Given the description of an element on the screen output the (x, y) to click on. 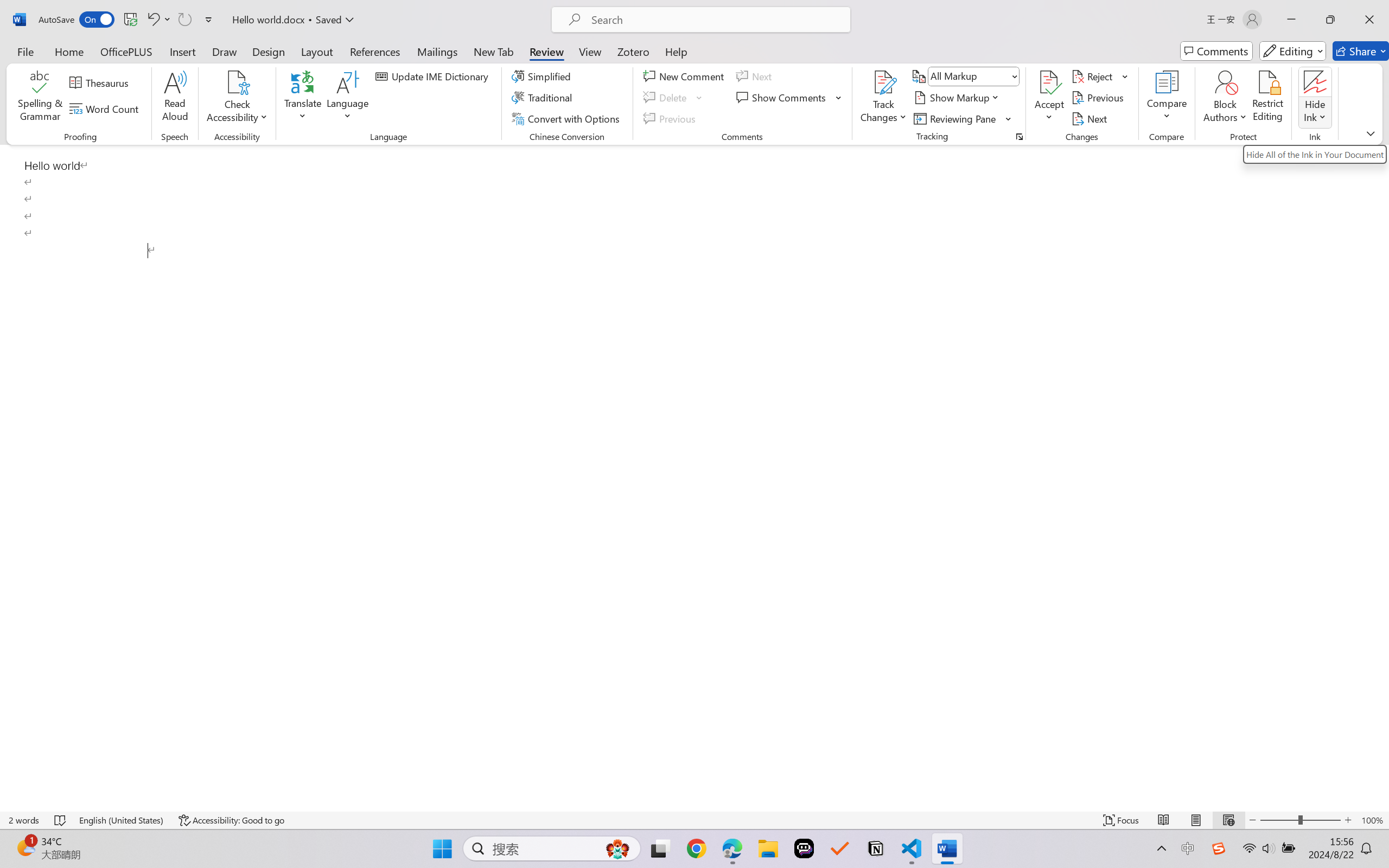
View (589, 51)
Home (69, 51)
Editing (1292, 50)
Hide Ink (1315, 81)
AutomationID: DynamicSearchBoxGleamImage (617, 848)
Close (1369, 19)
AutoSave (76, 19)
Accept (1049, 97)
Layout (316, 51)
Zotero (632, 51)
File Tab (24, 51)
Help (675, 51)
Language (347, 97)
Design (268, 51)
Check Accessibility (237, 97)
